Given the description of an element on the screen output the (x, y) to click on. 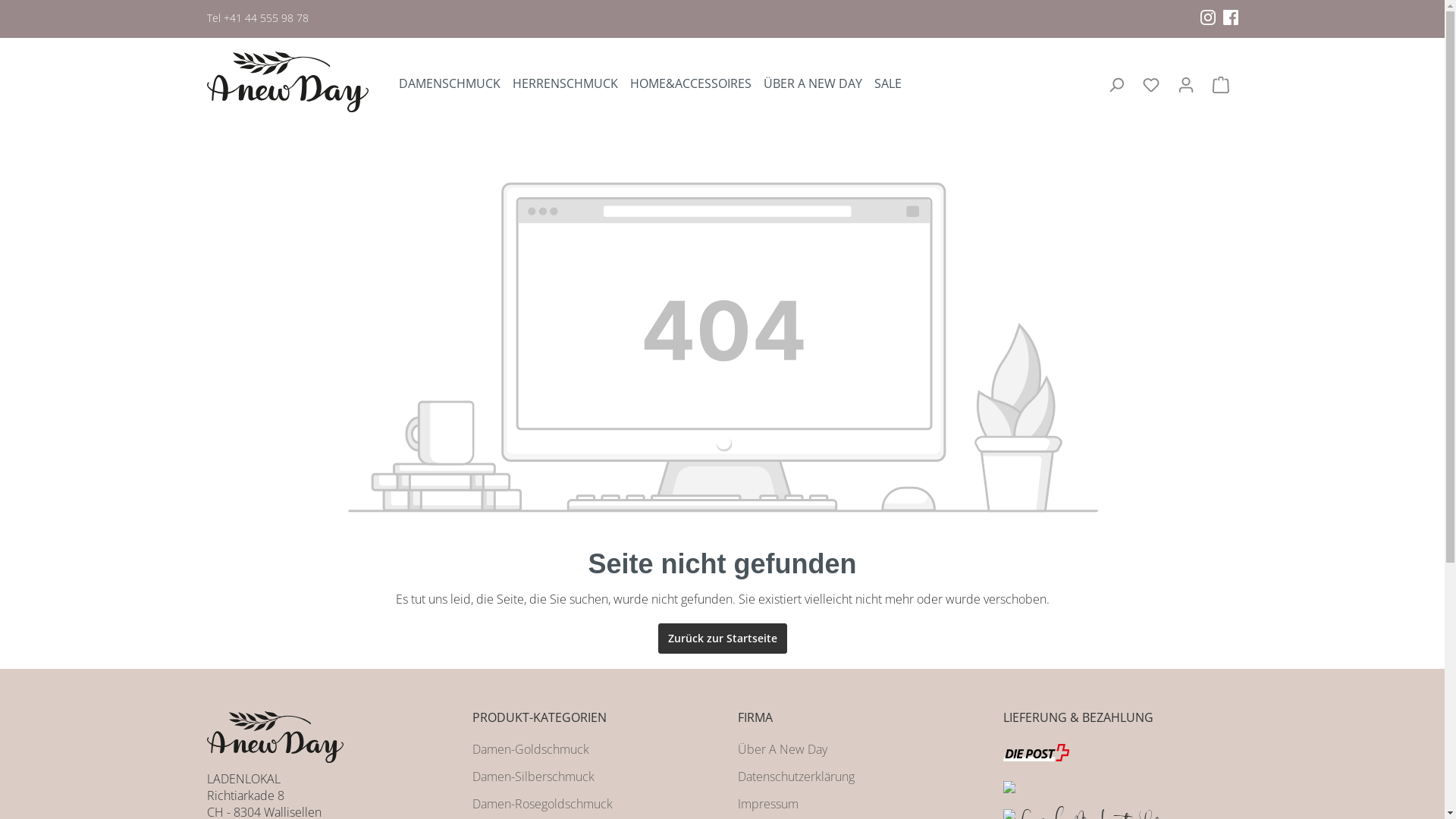
Merkzettel Element type: hover (1149, 84)
Mein Konto Element type: hover (1184, 84)
SALE Element type: text (893, 85)
Impressum Element type: text (767, 803)
Damen-Silberschmuck Element type: text (532, 776)
Damen-Goldschmuck Element type: text (529, 748)
Warenkorb Element type: hover (1219, 84)
HERRENSCHMUCK Element type: text (571, 85)
DAMENSCHMUCK Element type: text (455, 85)
Zur Startseite wechseln Element type: hover (286, 81)
Tel +41 44 555 98 78 Element type: text (256, 17)
HOME&ACCESSOIRES Element type: text (696, 85)
Damen-Rosegoldschmuck Element type: text (541, 803)
